Given the description of an element on the screen output the (x, y) to click on. 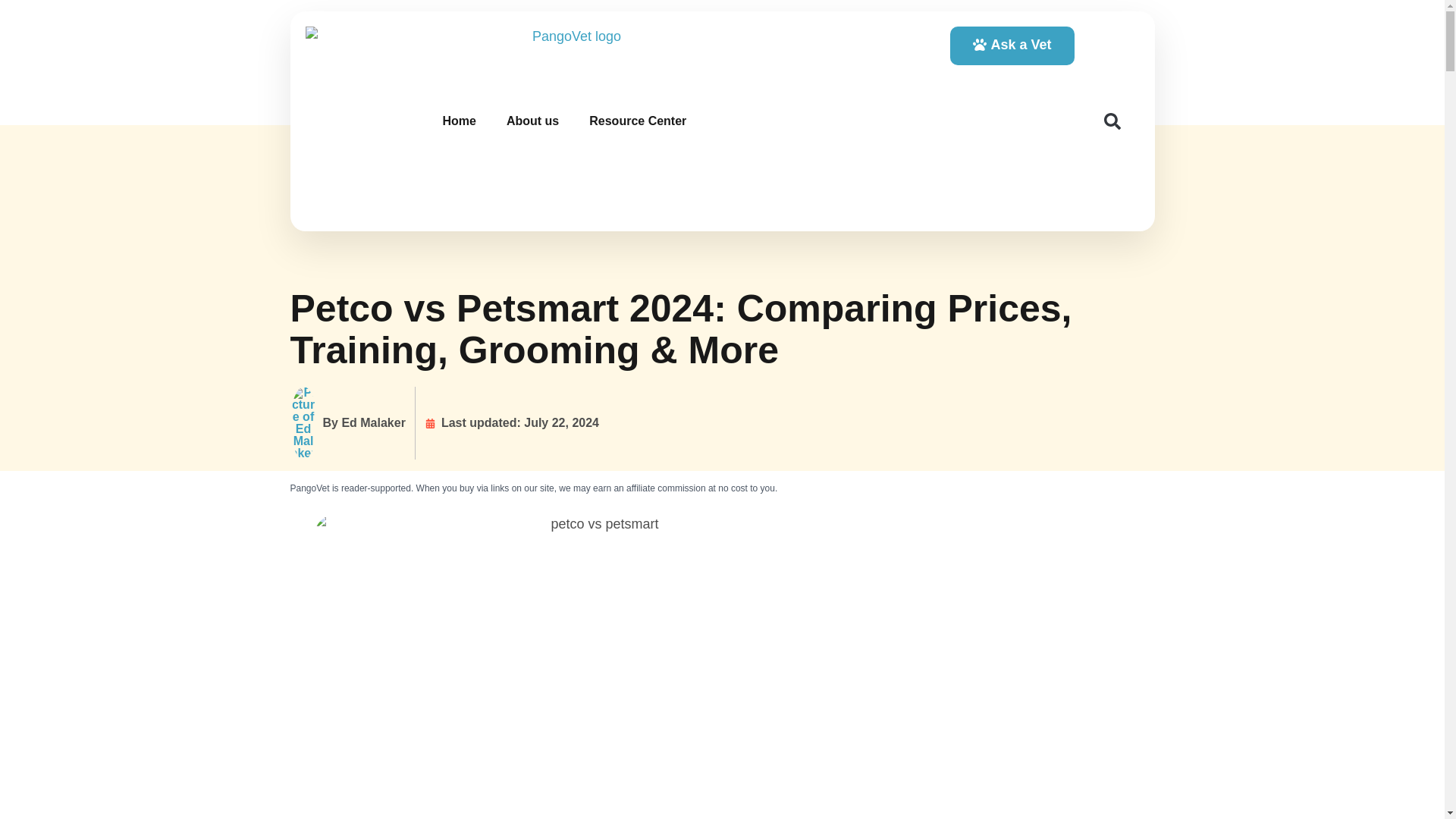
Resource Center (637, 121)
About us (532, 121)
By Ed Malaker (346, 422)
Home (458, 121)
Ask a Vet (1012, 45)
